Given the description of an element on the screen output the (x, y) to click on. 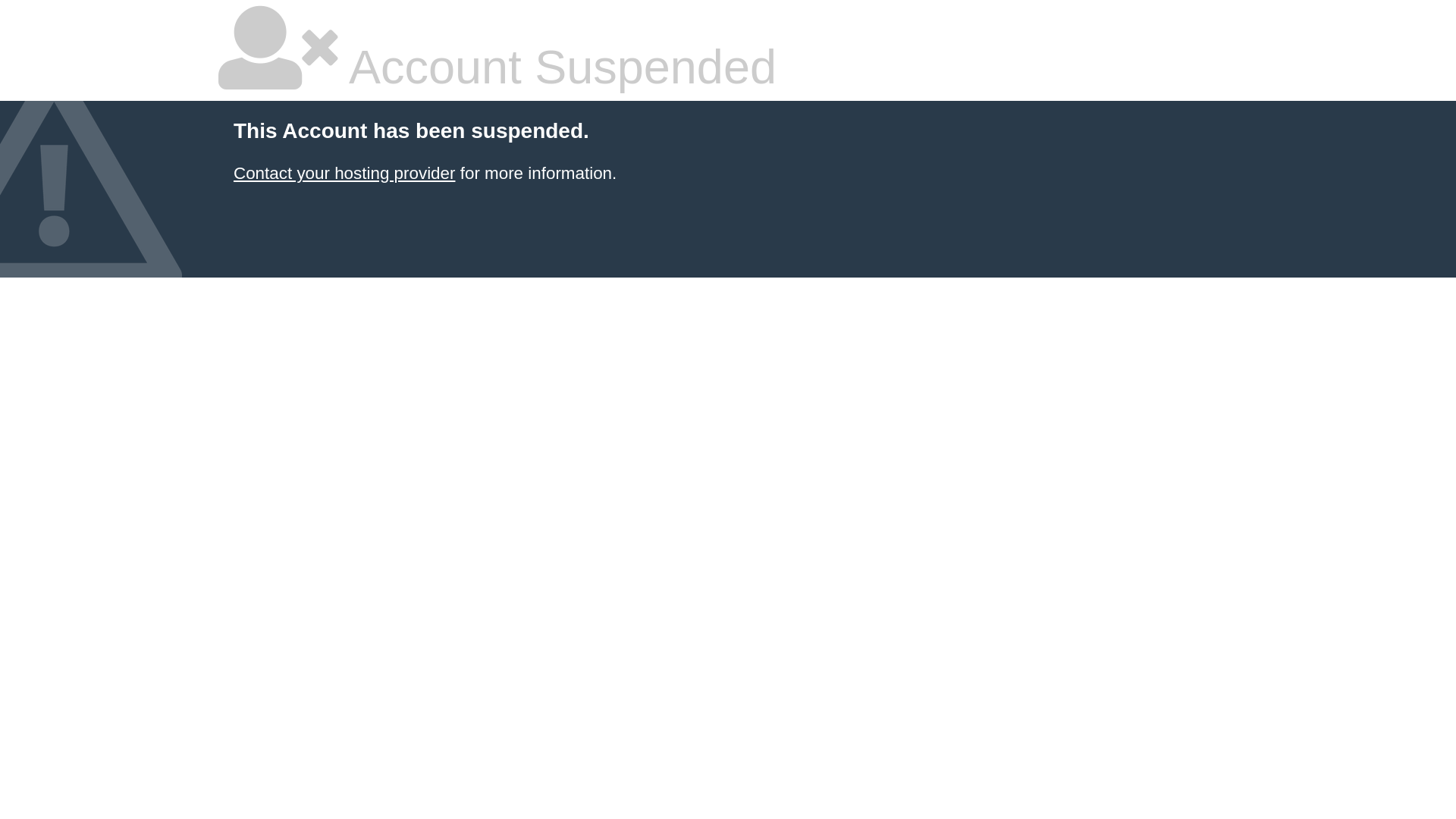
Contact your hosting provider Element type: text (344, 172)
